Given the description of an element on the screen output the (x, y) to click on. 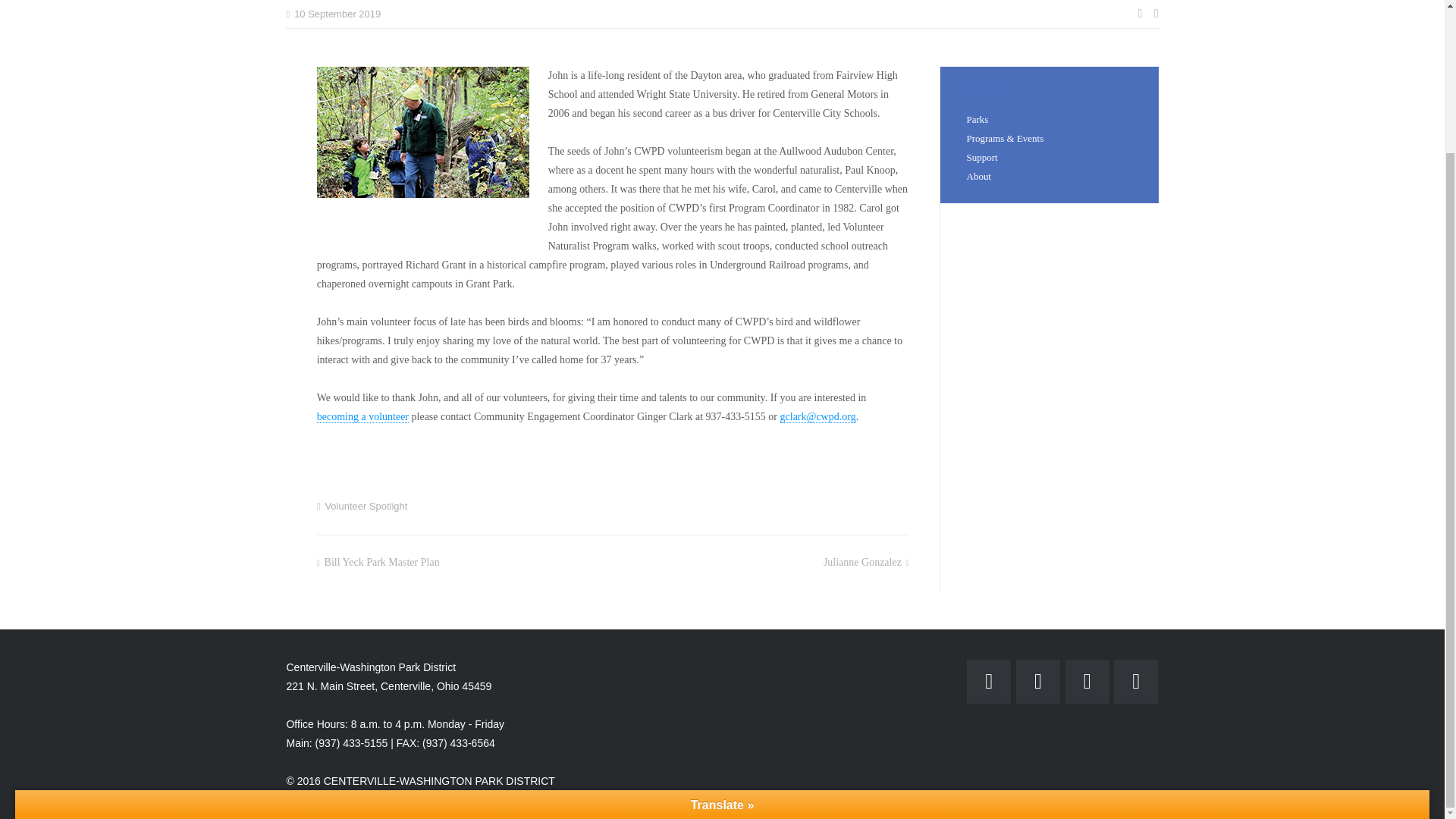
Centerville-Washington Park District on Facebook (988, 681)
Centerville-Washington Park District on X Twitter (1135, 681)
LinkedIn (1087, 681)
Centerville-Washington Park District on Instagram (1037, 681)
